Given the description of an element on the screen output the (x, y) to click on. 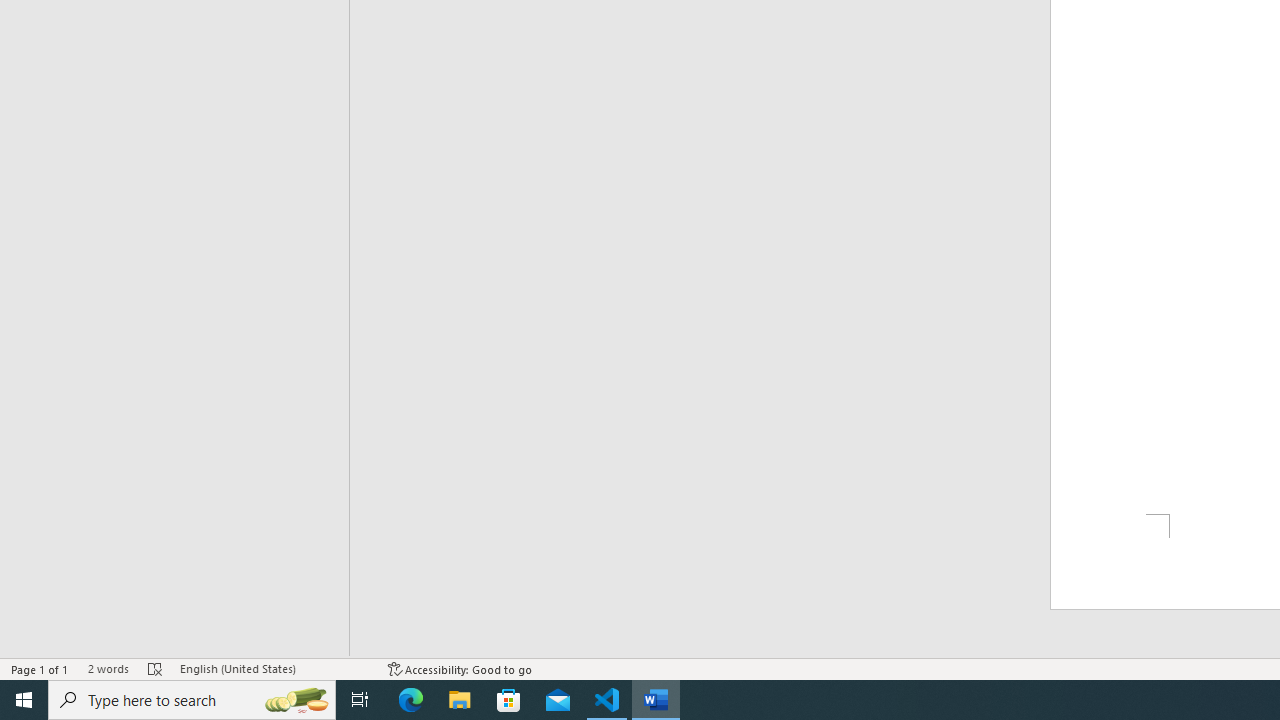
Page Number Page 1 of 1 (39, 668)
